Given the description of an element on the screen output the (x, y) to click on. 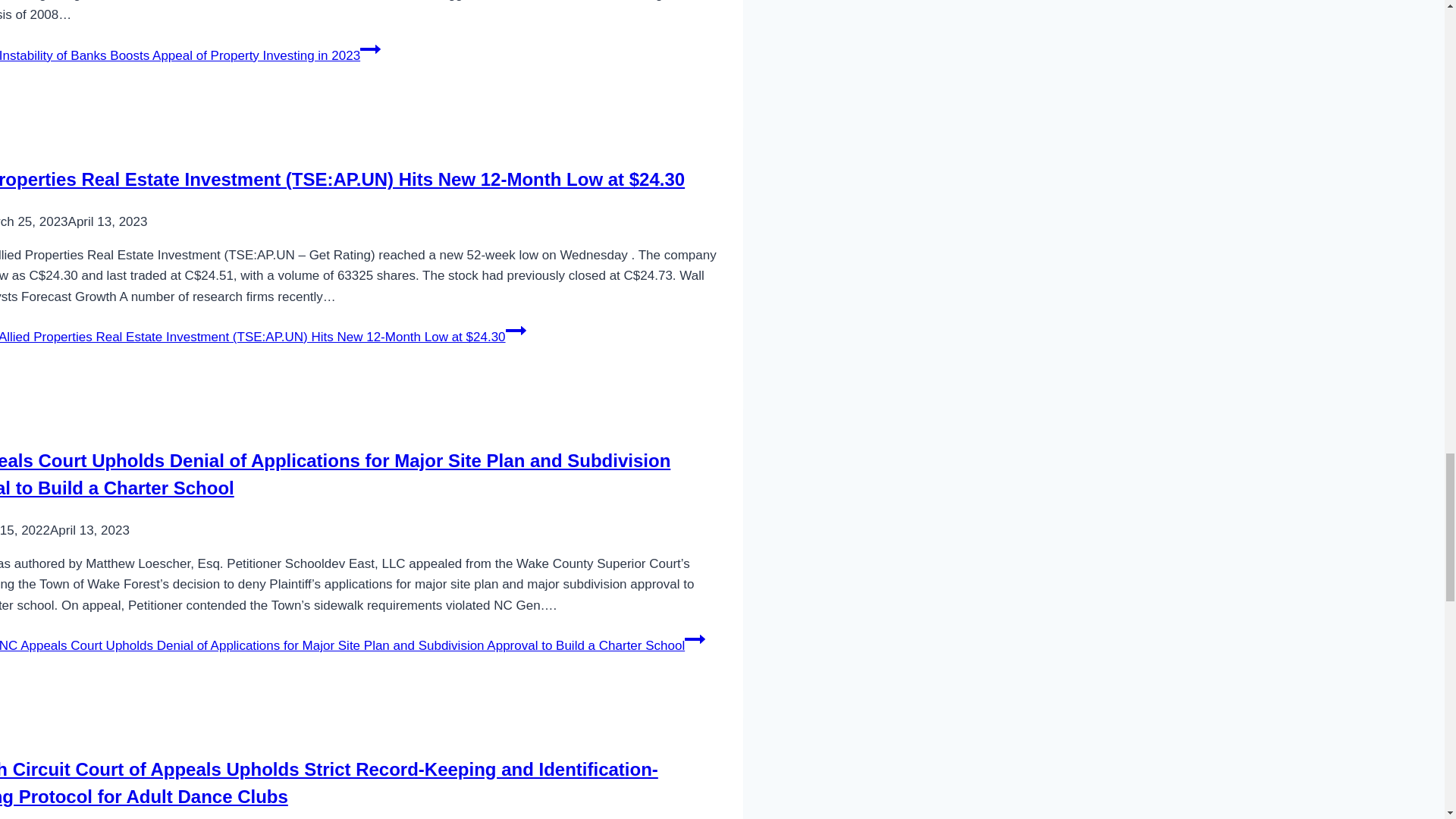
Continue (369, 48)
Continue (515, 330)
Continue (694, 639)
